Given the description of an element on the screen output the (x, y) to click on. 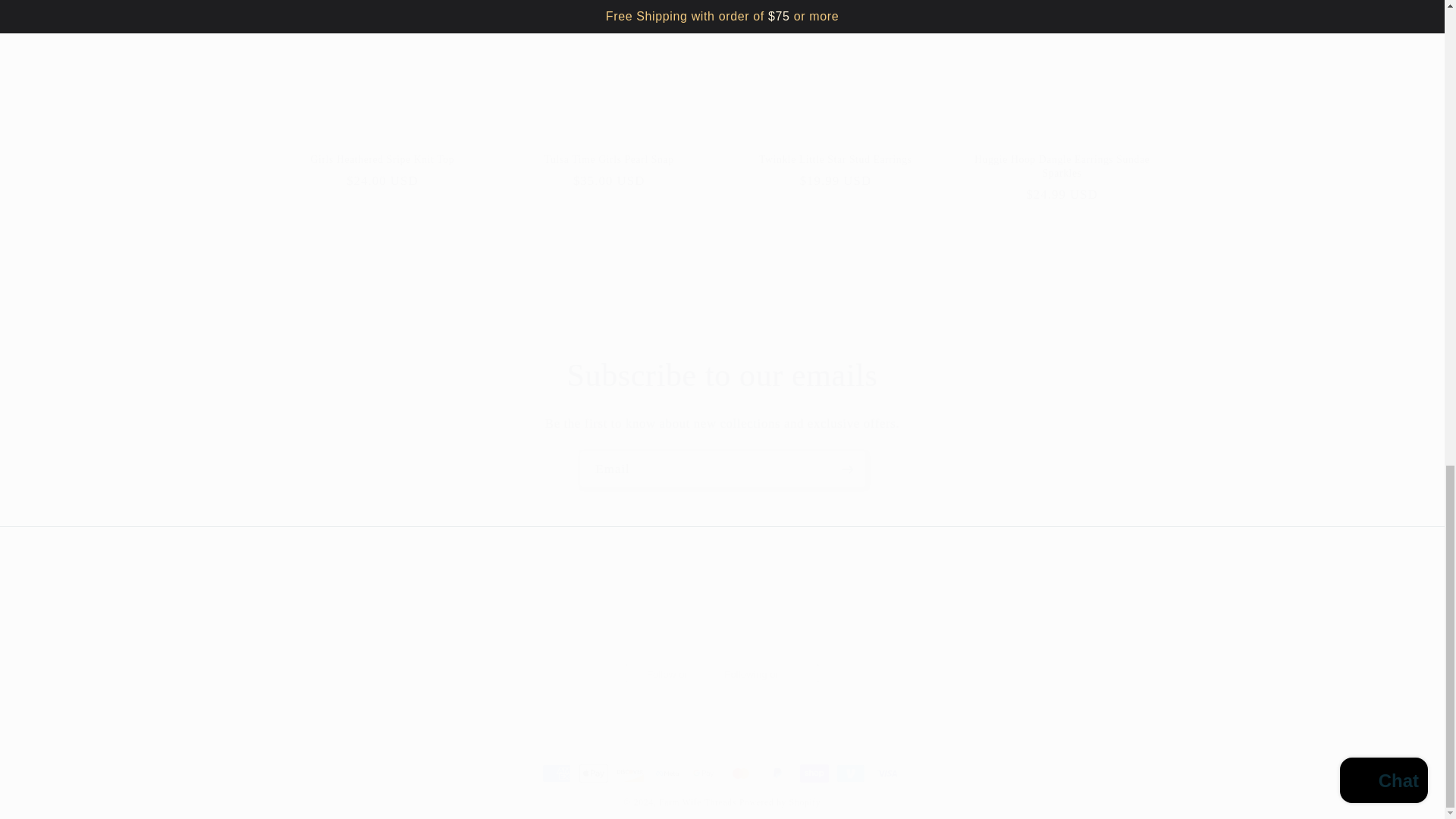
Subscribe to our emails (722, 375)
Email (722, 468)
